Given the description of an element on the screen output the (x, y) to click on. 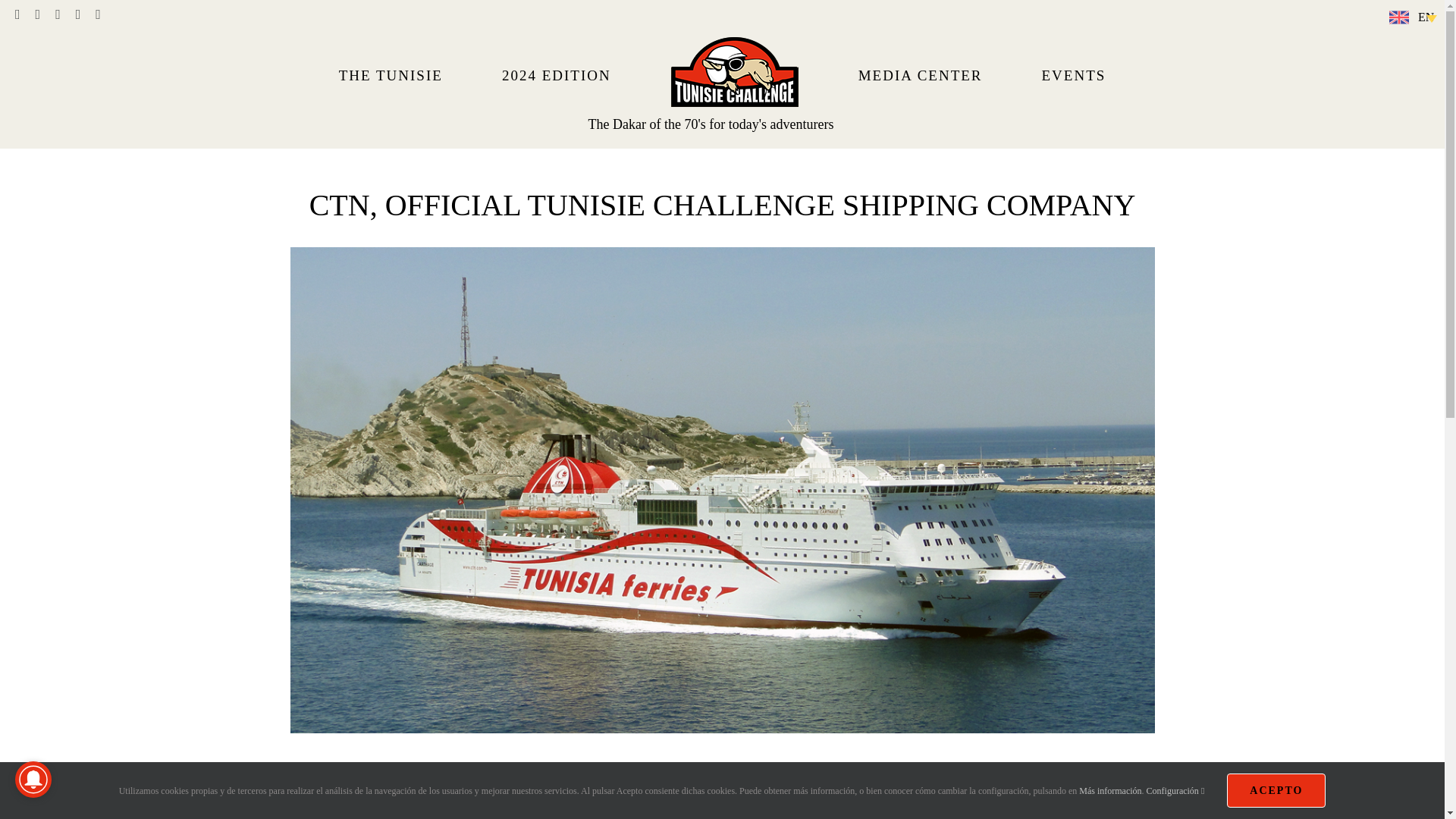
LinkedIn (78, 14)
Instagram (58, 14)
THE TUNISIE (389, 74)
Facebook (17, 14)
MEDIA CENTER (919, 74)
YouTube (37, 14)
WhatsApp (98, 14)
YouTube (37, 14)
Facebook (17, 14)
Instagram (58, 14)
WhatsApp (98, 14)
2024 EDITION (555, 74)
LinkedIn (78, 14)
EVENTS (1073, 74)
